Given the description of an element on the screen output the (x, y) to click on. 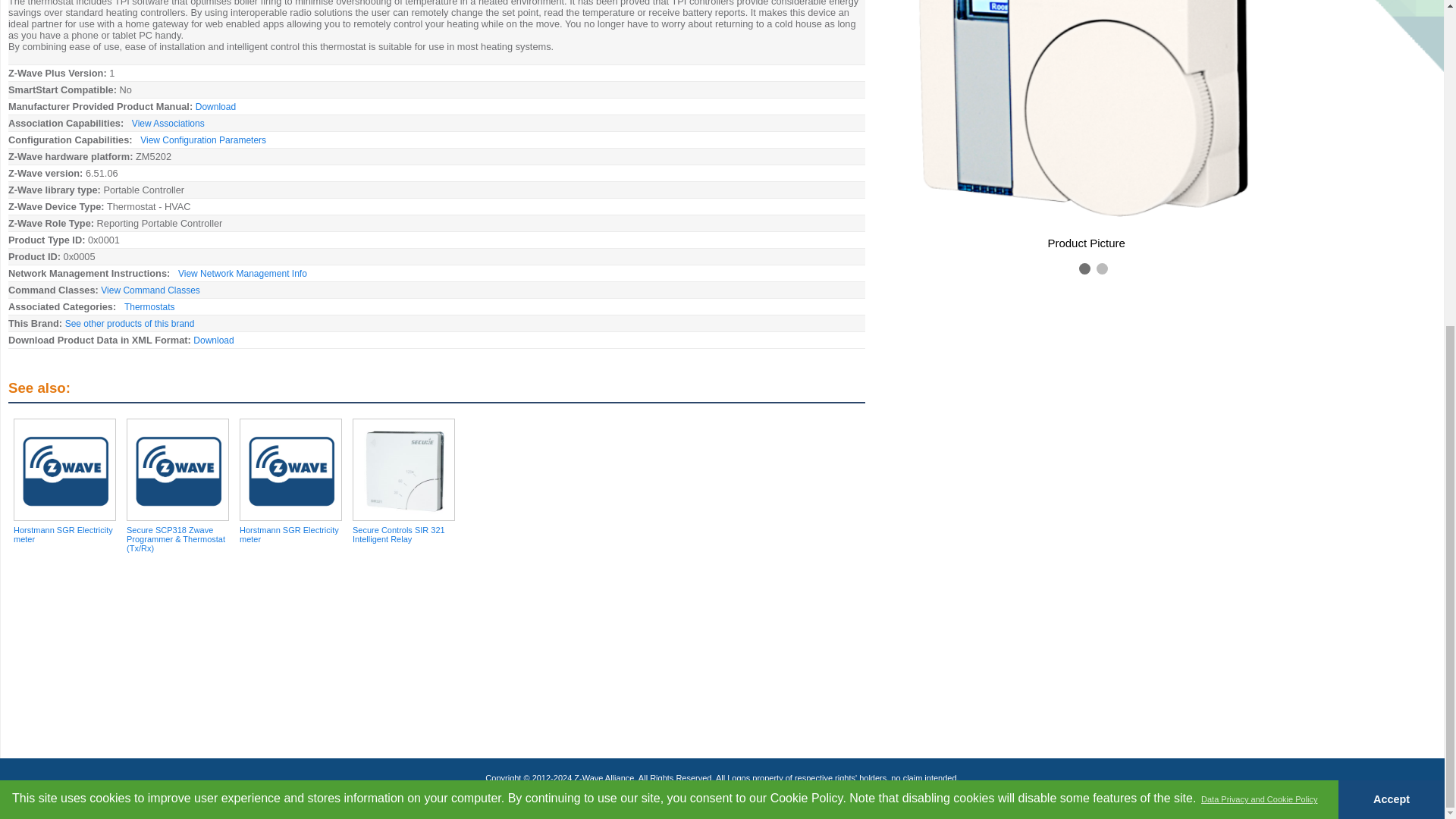
Thermostats (148, 307)
Horstmann SGR Electricity meter (64, 539)
View Command Classes (150, 290)
View Network Management Info (242, 273)
Secure Controls SIR 321 Intelligent Relay (403, 539)
View Configuration Parameters (202, 140)
Download (215, 106)
Download (212, 339)
See other products of this brand (130, 323)
Data Privacy and Cookie Policy (1259, 262)
View Associations (168, 122)
Horstmann SGR Electricity meter (291, 539)
